Given the description of an element on the screen output the (x, y) to click on. 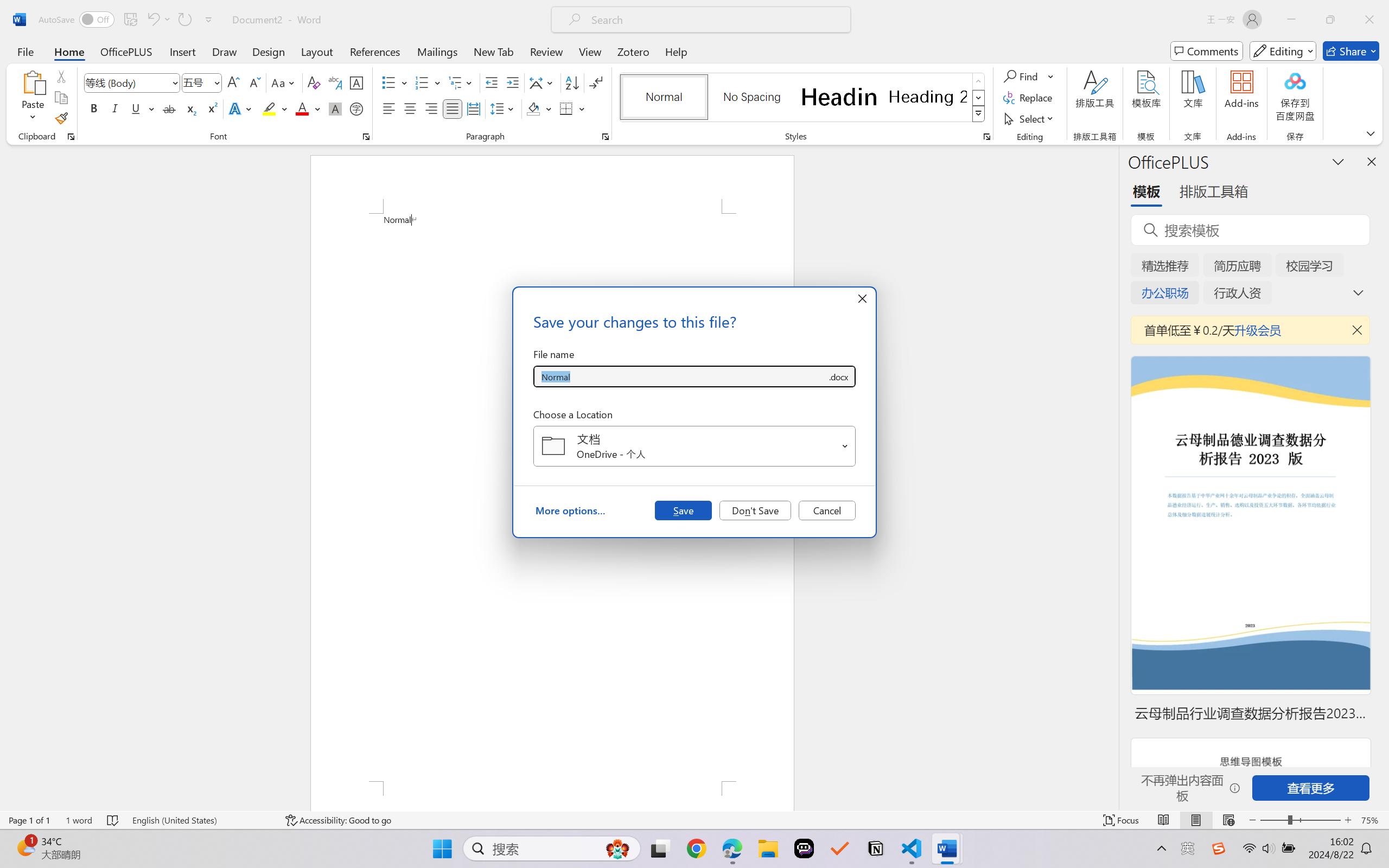
Heading 1 (839, 96)
Restore Down (1330, 19)
Font Size (201, 82)
Close (1369, 19)
File Tab (24, 51)
Microsoft search (715, 19)
Font Color (308, 108)
Insert (182, 51)
Align Right (431, 108)
New Tab (493, 51)
Increase Indent (512, 82)
Undo Apply Quick Style (152, 19)
AutoSave (76, 19)
Distributed (473, 108)
